Given the description of an element on the screen output the (x, y) to click on. 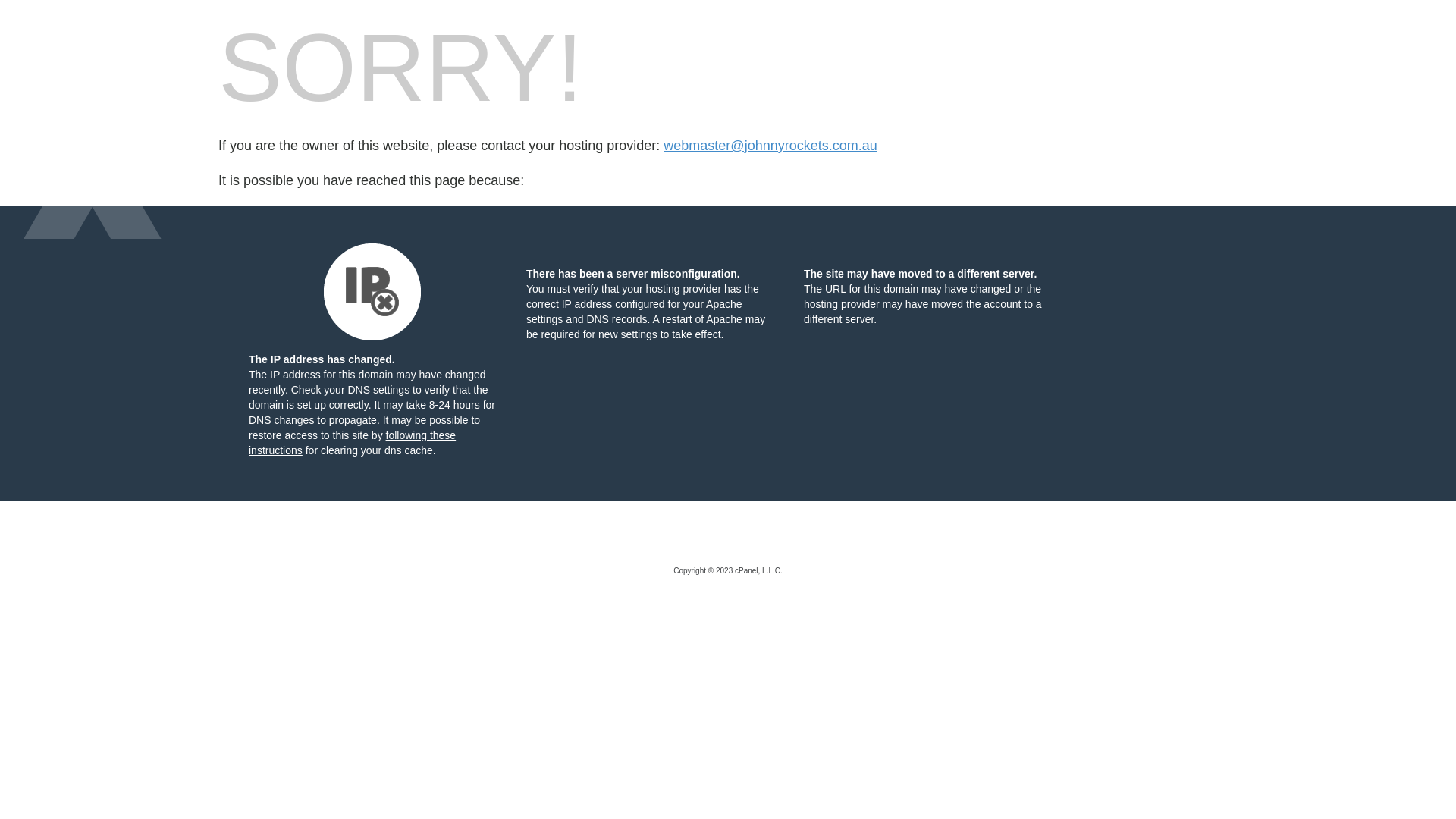
webmaster@johnnyrockets.com.au Element type: text (769, 145)
following these instructions Element type: text (351, 442)
